Given the description of an element on the screen output the (x, y) to click on. 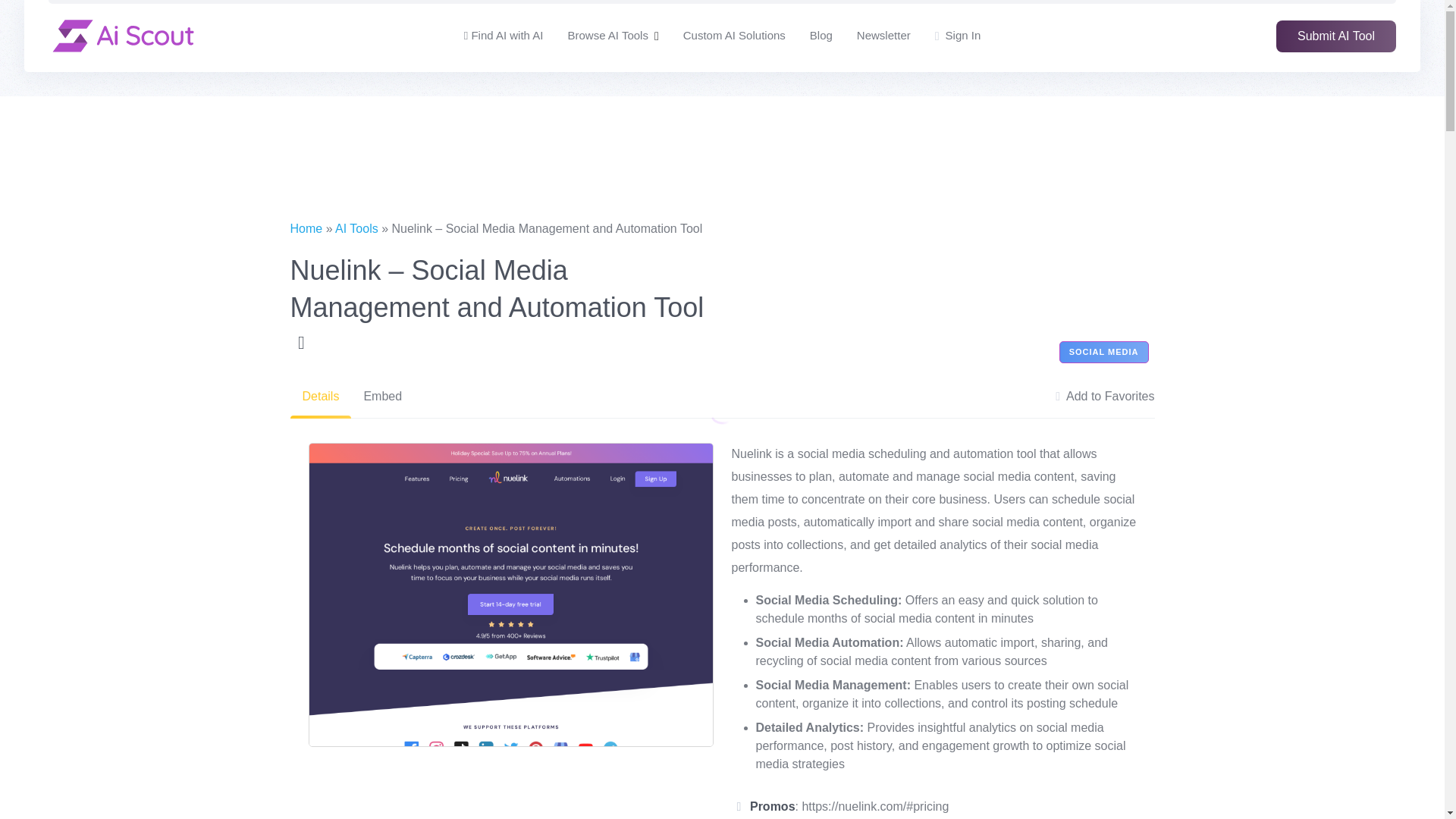
Browse AI Tools (607, 36)
Sign In (957, 36)
SOCIAL MEDIA (1103, 352)
Details (320, 396)
AI Tools (356, 228)
Embed (381, 396)
Submit AI Tool (1336, 35)
Blog (820, 36)
Newsletter (884, 36)
Home (305, 228)
Add to Favorites (1104, 396)
Custom AI Solutions (734, 36)
